Given the description of an element on the screen output the (x, y) to click on. 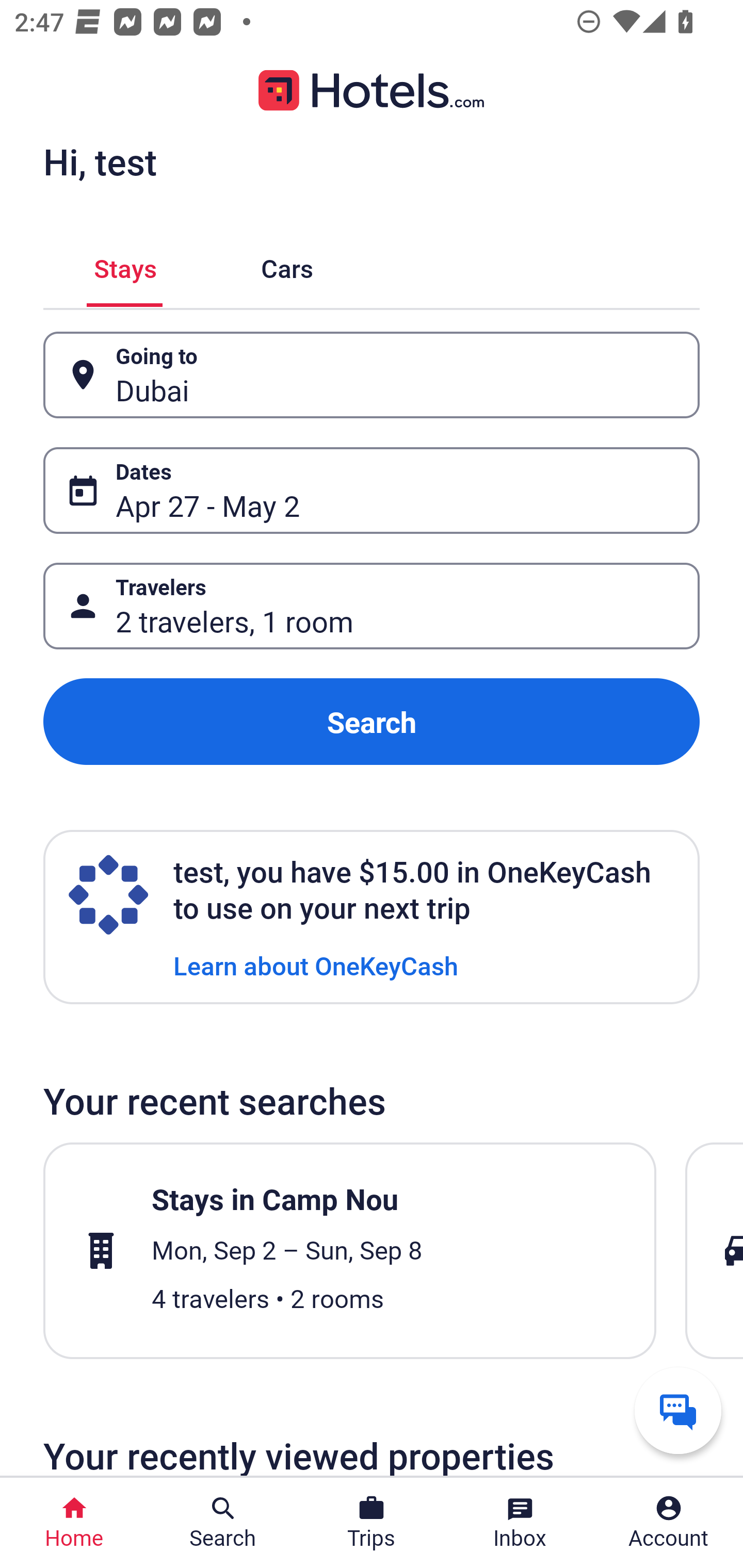
Hi, test (99, 161)
Cars (286, 265)
Going to Button Dubai (371, 375)
Dates Button Apr 27 - May 2 (371, 489)
Travelers Button 2 travelers, 1 room (371, 605)
Search (371, 721)
Learn about OneKeyCash Learn about OneKeyCash Link (315, 964)
Get help from a virtual agent (677, 1410)
Search Search Button (222, 1522)
Trips Trips Button (371, 1522)
Inbox Inbox Button (519, 1522)
Account Profile. Button (668, 1522)
